Given the description of an element on the screen output the (x, y) to click on. 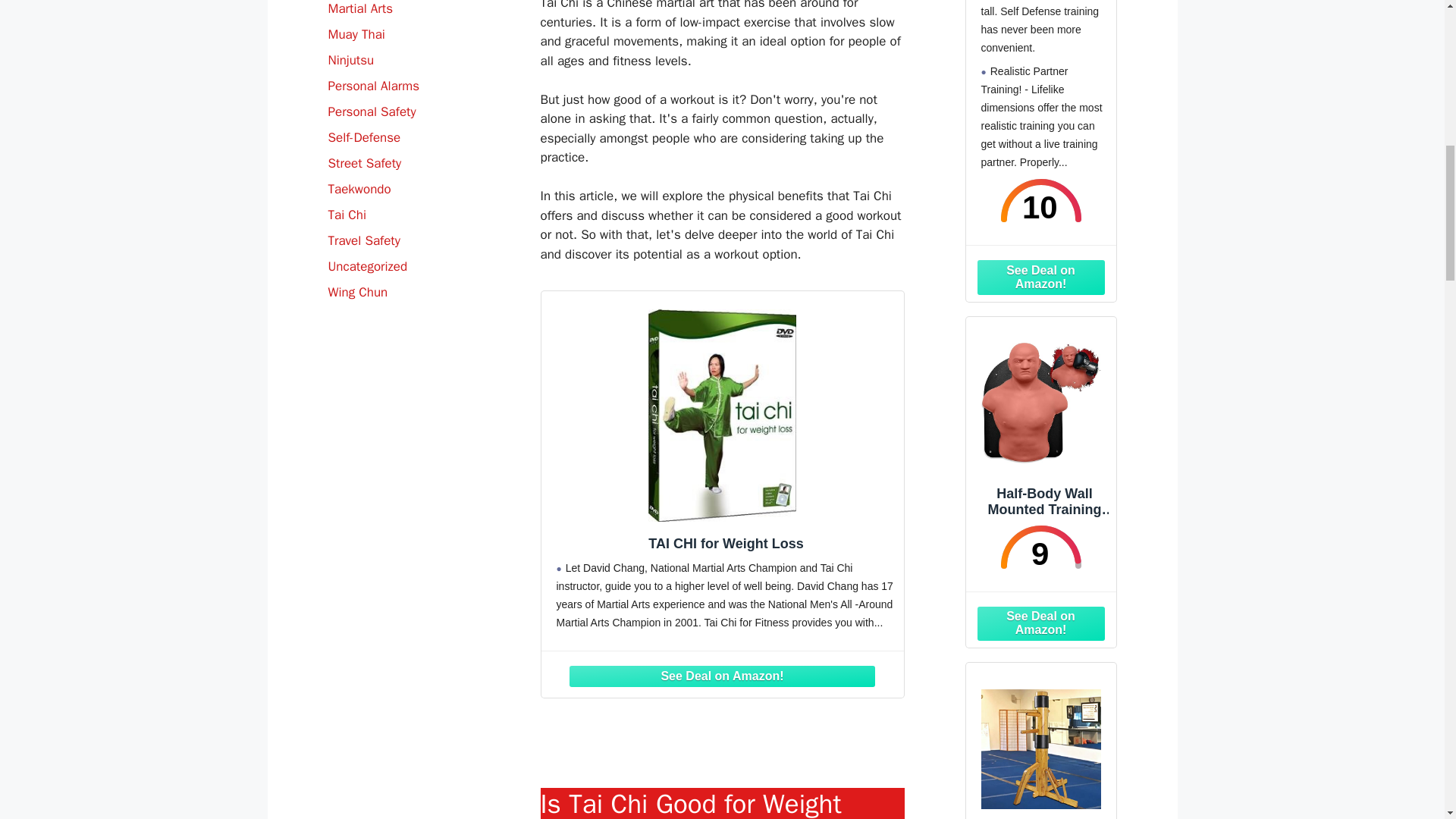
10 (1040, 200)
9 (1040, 546)
